Given the description of an element on the screen output the (x, y) to click on. 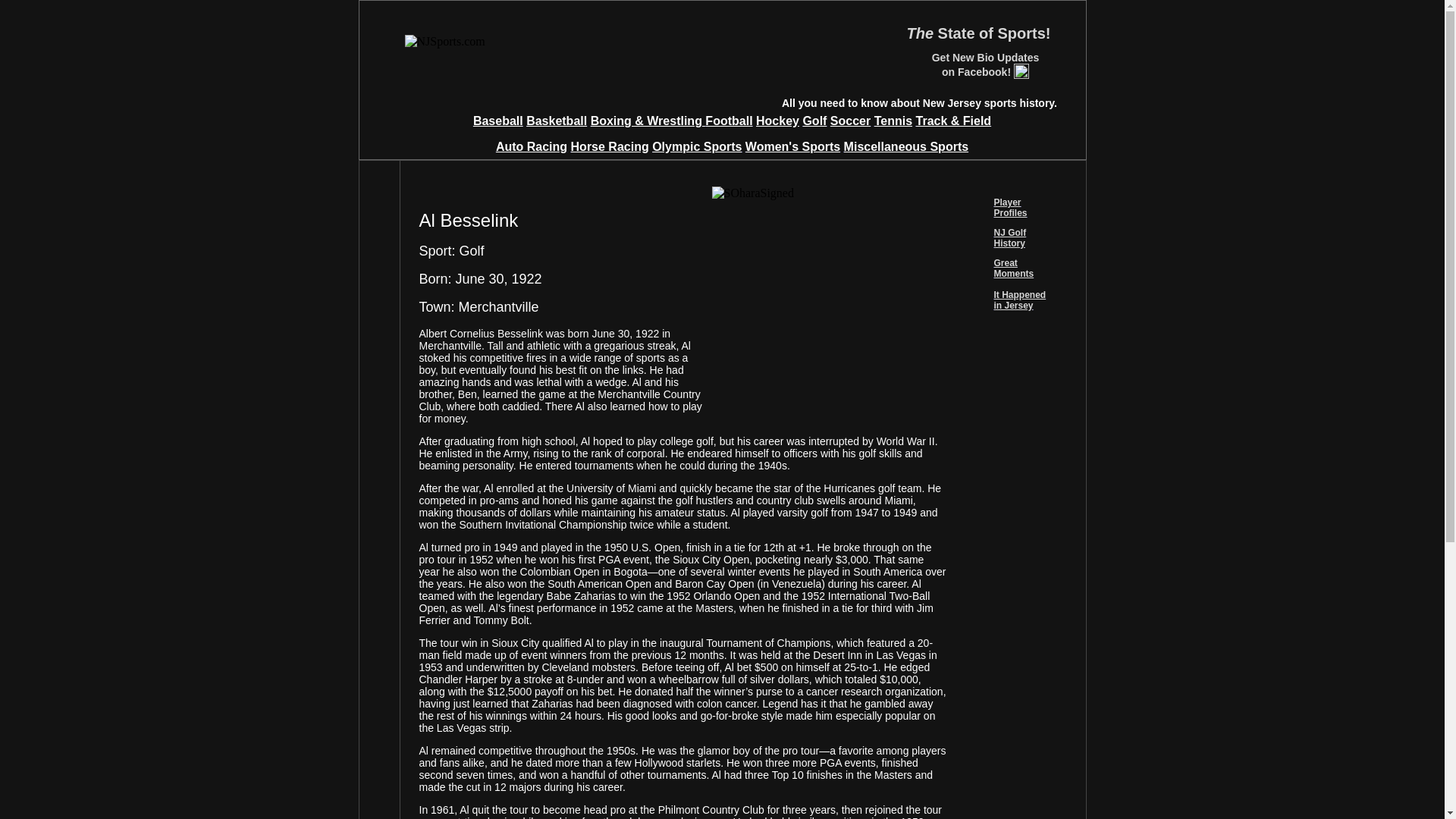
Horse Racing (609, 146)
Miscellaneous Sports (906, 146)
Football (728, 120)
Baseball (497, 120)
Basketball (555, 120)
Great Moments (1012, 268)
Golf (814, 120)
NJ Golf History (1009, 237)
Hockey (777, 120)
Olympic Sports (696, 146)
